Given the description of an element on the screen output the (x, y) to click on. 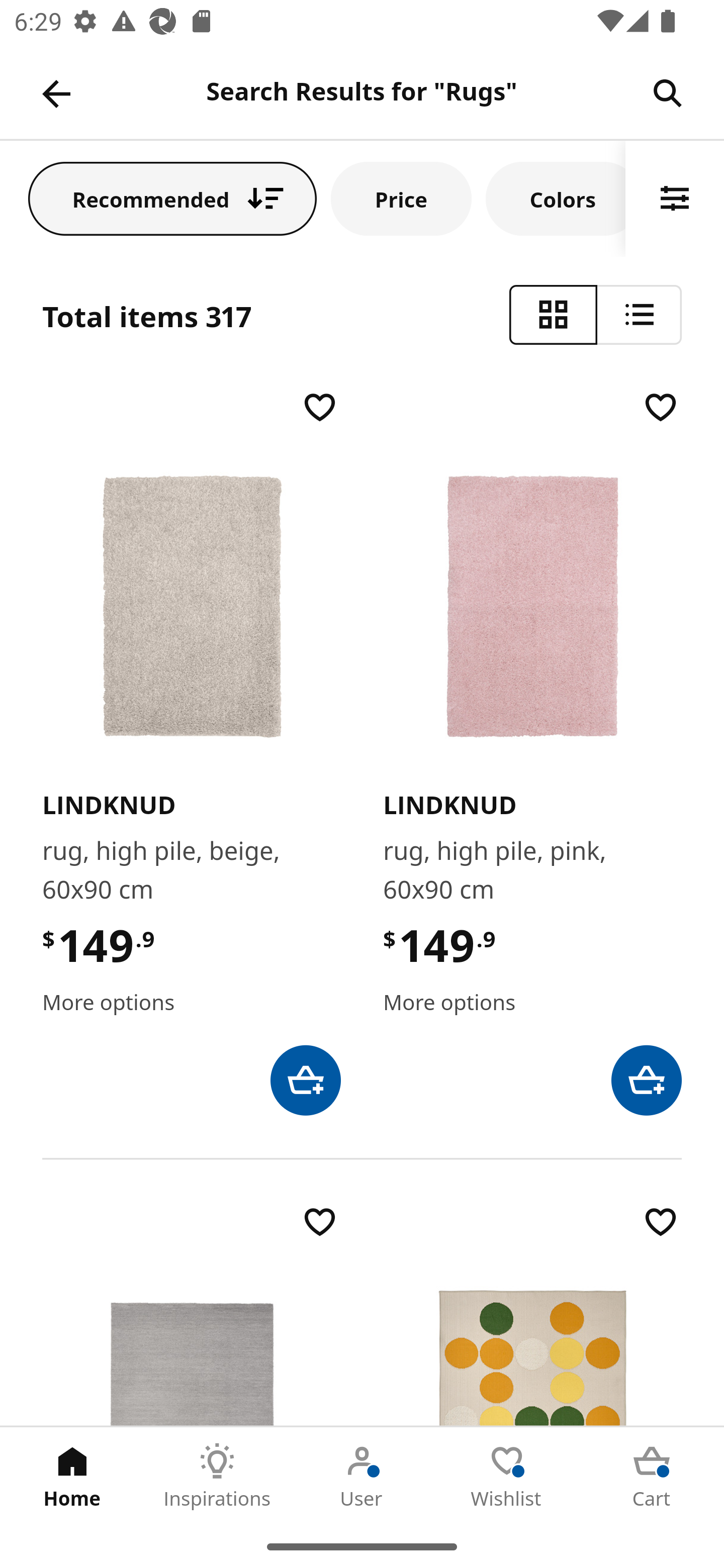
Recommended (172, 198)
Price (400, 198)
Colors (555, 198)
Home
Tab 1 of 5 (72, 1476)
Inspirations
Tab 2 of 5 (216, 1476)
User
Tab 3 of 5 (361, 1476)
Wishlist
Tab 4 of 5 (506, 1476)
Cart
Tab 5 of 5 (651, 1476)
